Given the description of an element on the screen output the (x, y) to click on. 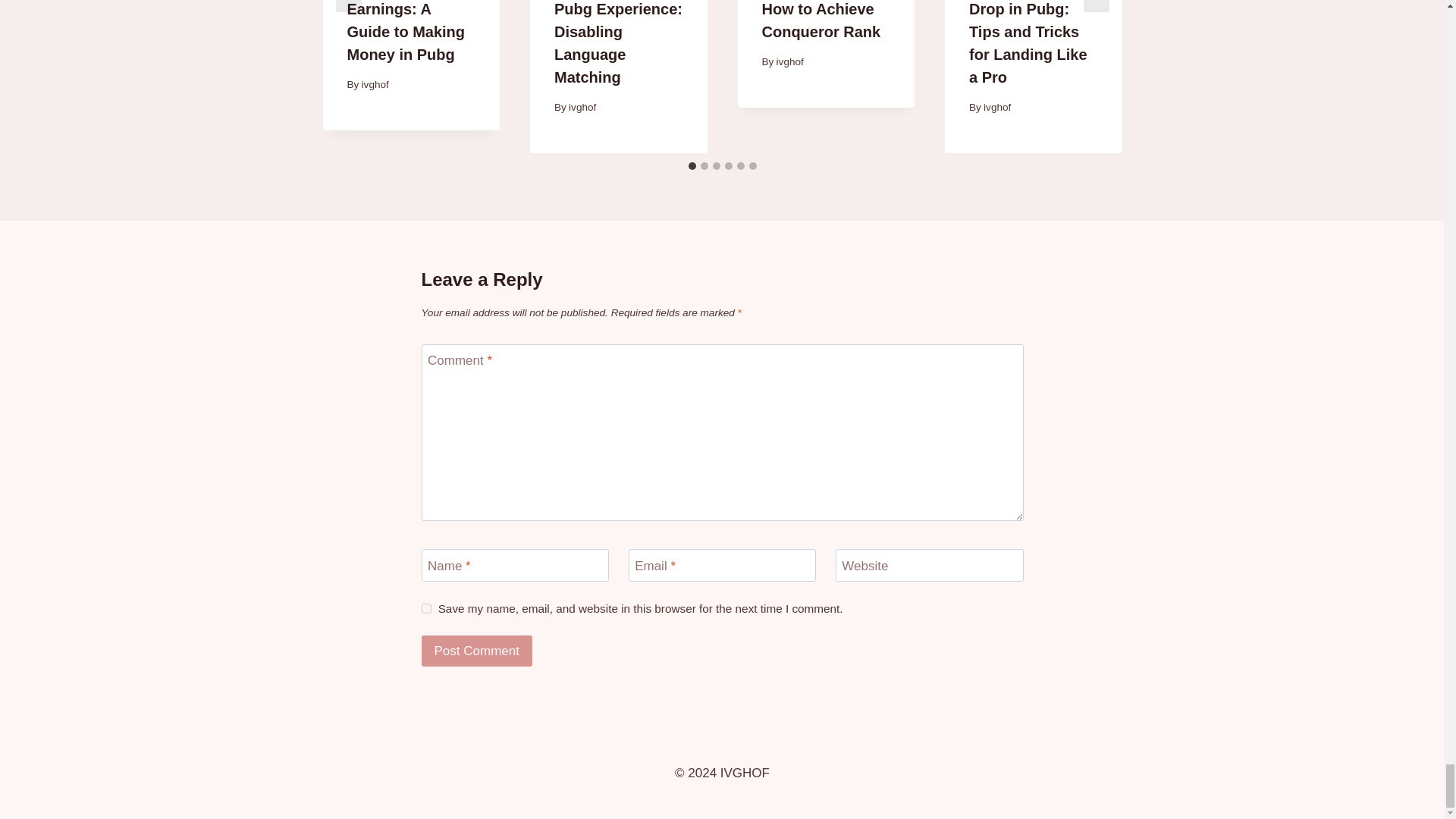
yes (426, 608)
Post Comment (477, 650)
